Given the description of an element on the screen output the (x, y) to click on. 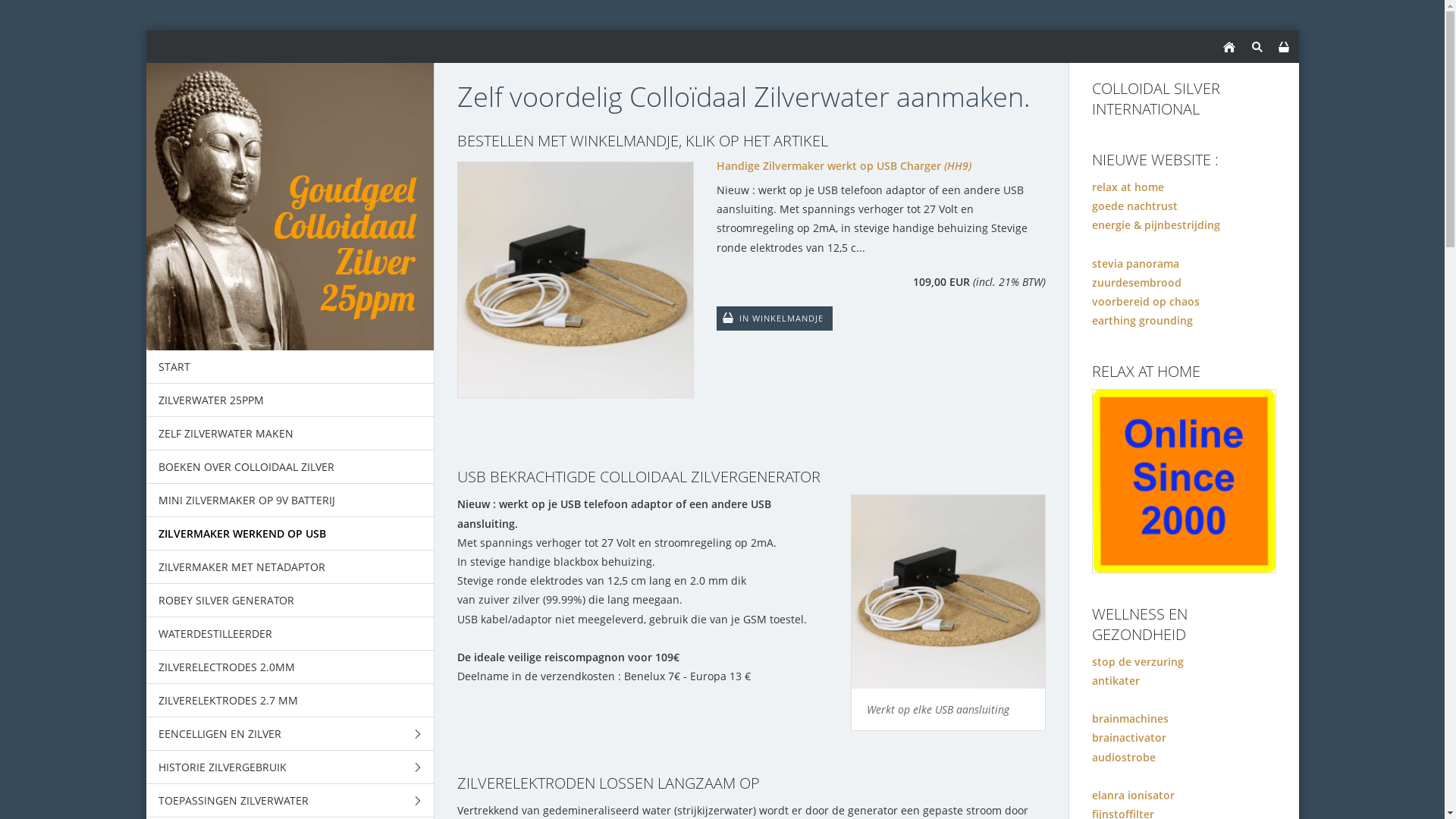
HISTORIE ZILVERGEBRUIK Element type: text (289, 767)
WATERDESTILLEERDER Element type: text (289, 633)
ZILVERELECTRODES 2.0MM Element type: text (289, 667)
IN WINKELMANDJE Element type: text (774, 318)
Handige Zilvermaker werkt op USB Charger (HH9) Element type: text (750, 165)
voorbereid op chaos Element type: text (1145, 301)
zuurdesembrood Element type: text (1136, 282)
EENCELLIGEN EN ZILVER Element type: text (289, 733)
TOEPASSINGEN ZILVERWATER Element type: text (289, 800)
antikater Element type: text (1115, 680)
energie & pijnbestrijding Element type: text (1156, 224)
stop de verzuring Element type: text (1137, 661)
MINI ZILVERMAKER OP 9V BATTERIJ Element type: text (289, 500)
ROBEY SILVER GENERATOR Element type: text (289, 600)
elanra ionisator Element type: text (1133, 794)
ZELF ZILVERWATER MAKEN Element type: text (289, 433)
BOEKEN OVER COLLOIDAAL ZILVER Element type: text (289, 466)
ZILVERMAKER WERKEND OP USB Element type: text (289, 533)
ZILVERWATER 25PPM Element type: text (289, 400)
goede nachtrust Element type: text (1134, 205)
brainmachines Element type: text (1130, 718)
earthing grounding Element type: text (1142, 320)
relax at home Element type: text (1128, 186)
START Element type: text (289, 366)
audiostrobe Element type: text (1123, 756)
ZILVERMAKER MET NETADAPTOR Element type: text (289, 566)
ZILVERELEKTRODES 2.7 MM Element type: text (289, 700)
brainactivator Element type: text (1129, 737)
stevia panorama Element type: text (1135, 263)
